Given the description of an element on the screen output the (x, y) to click on. 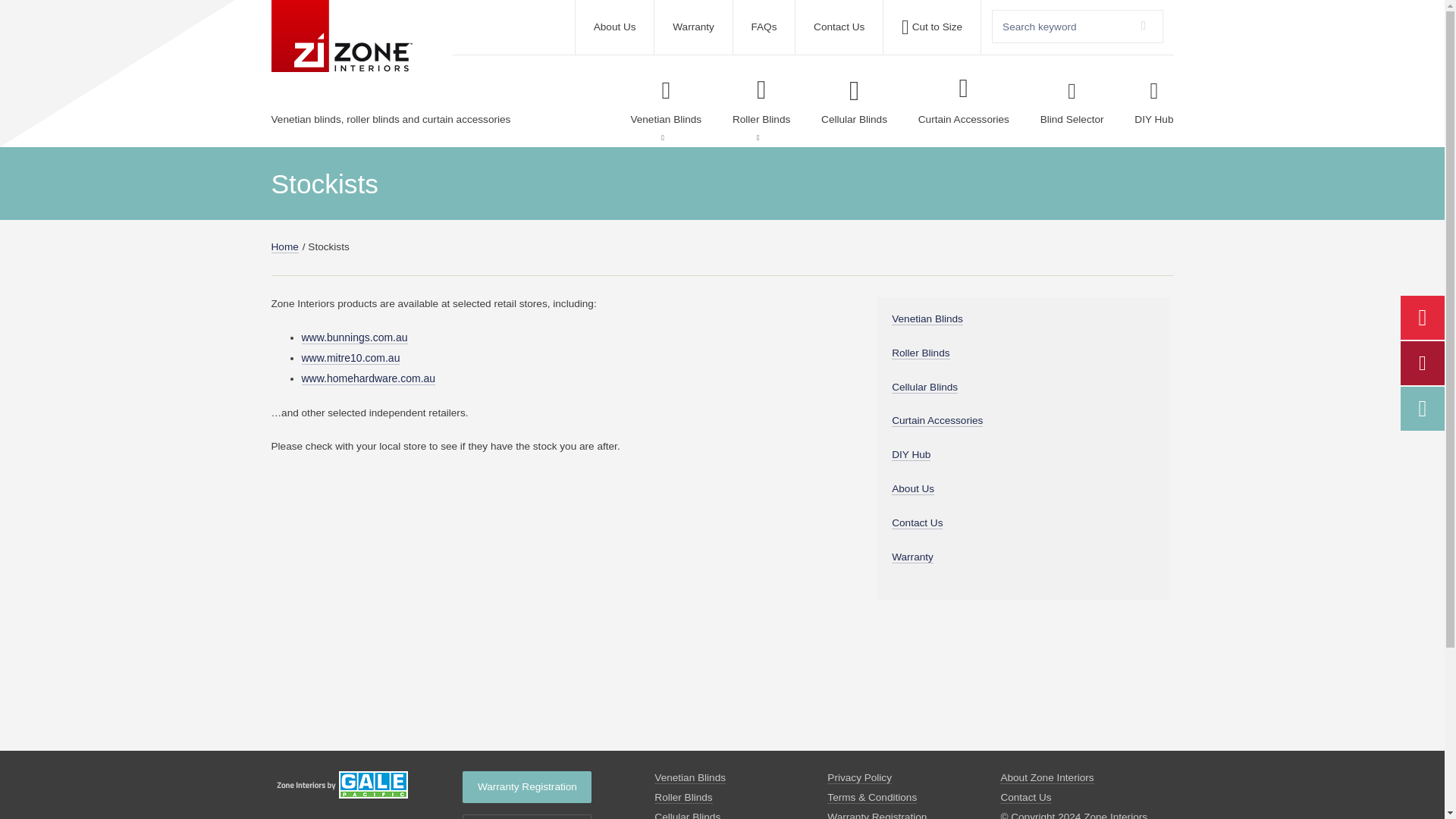
Go to home page (341, 36)
Cut to Size (930, 27)
Warranty (692, 27)
Search (1143, 25)
Contact Us (838, 27)
www.bunnings.com.au (354, 337)
Go to home page (365, 784)
Zone Interiors by Gale Pacific (341, 36)
www.mitre10.com.au (350, 358)
Curtain Accessories (963, 101)
